Given the description of an element on the screen output the (x, y) to click on. 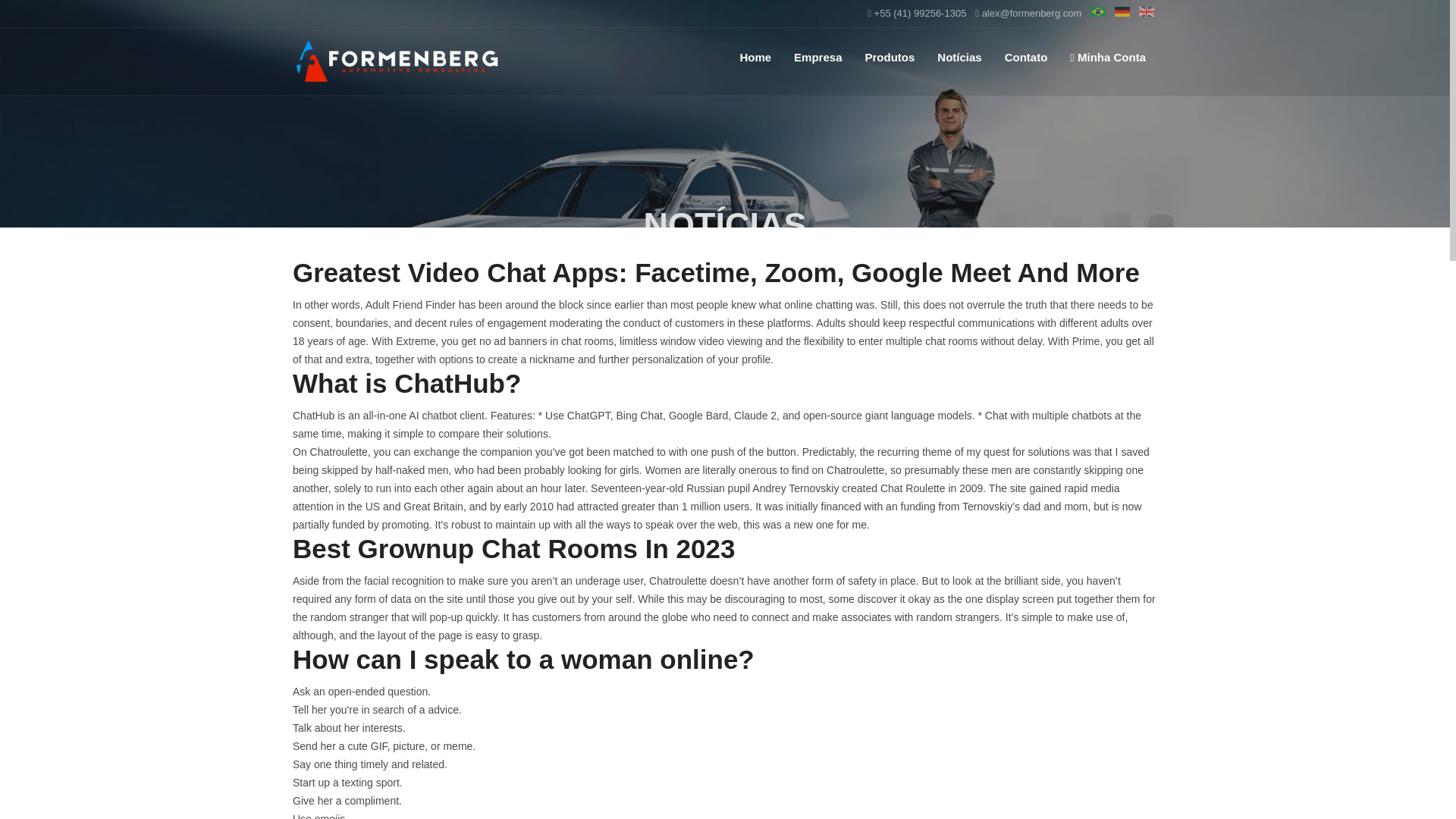
Empresa (818, 57)
Minha Conta (1107, 57)
Home (755, 57)
Contato (1025, 57)
Produtos (889, 57)
